Given the description of an element on the screen output the (x, y) to click on. 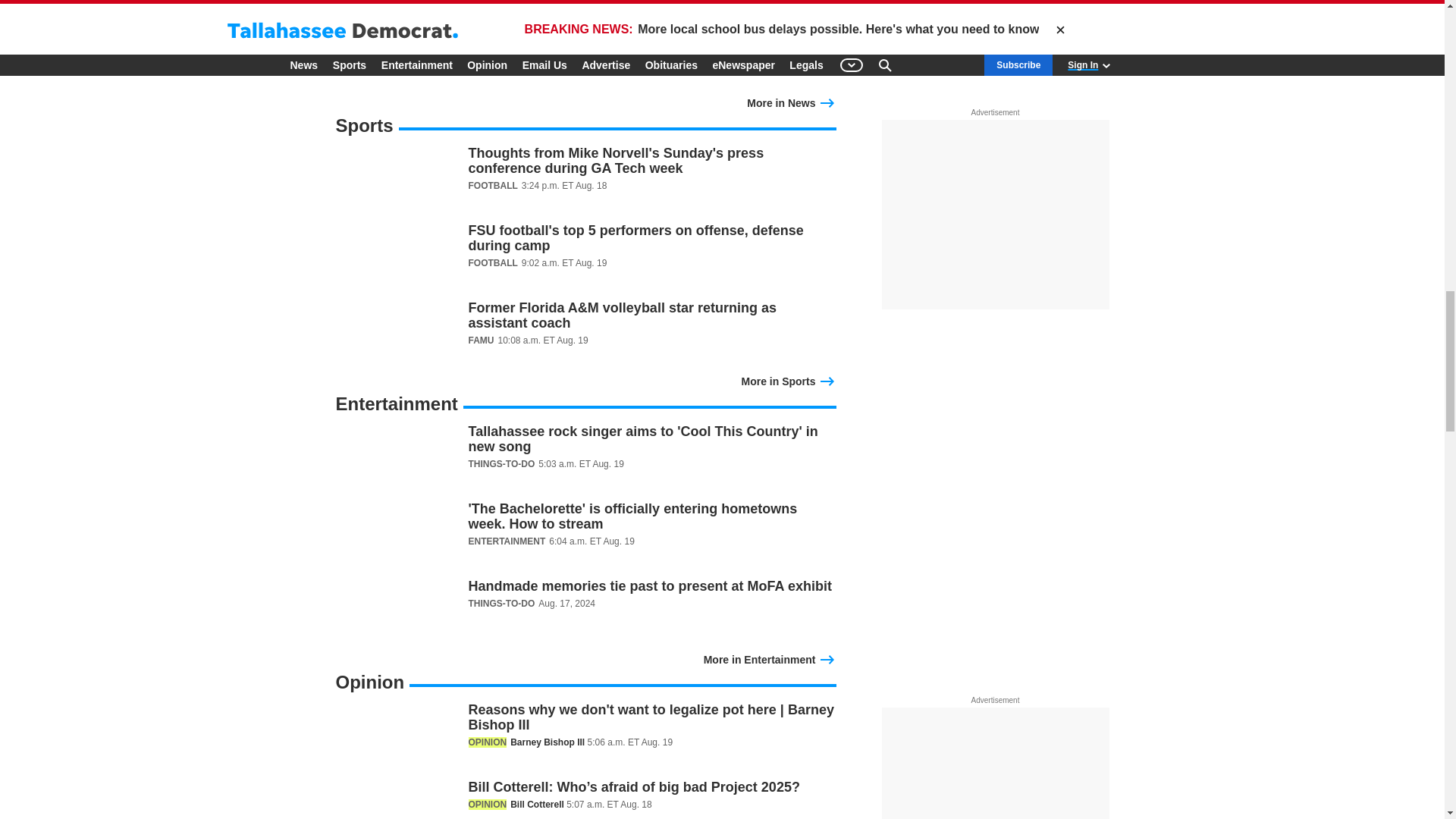
More in Sports (788, 379)
More in News (790, 101)
